Given the description of an element on the screen output the (x, y) to click on. 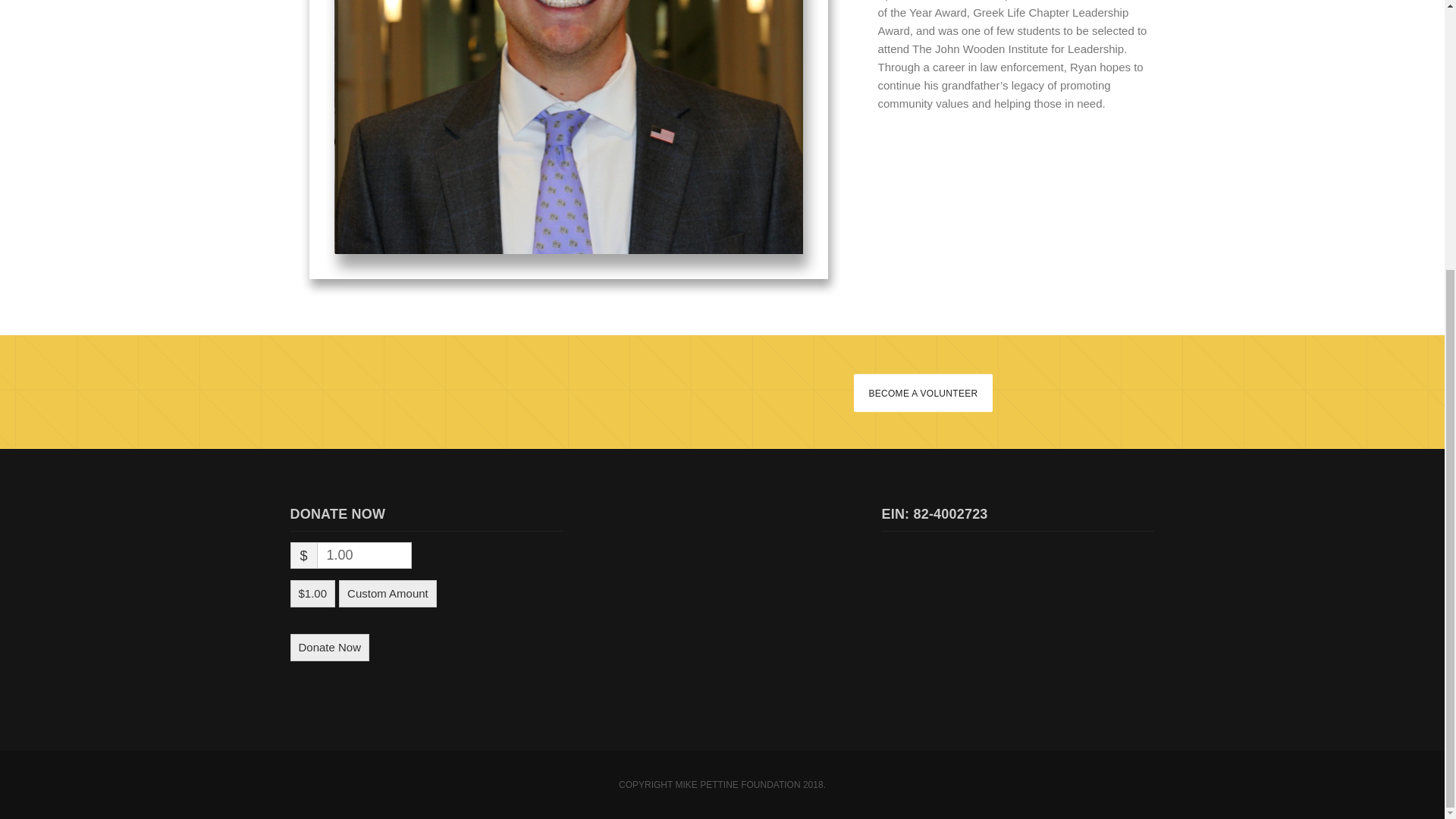
1.00 (364, 555)
Donate Now (329, 646)
BECOME A VOLUNTEER (922, 392)
Custom Amount (387, 593)
